Given the description of an element on the screen output the (x, y) to click on. 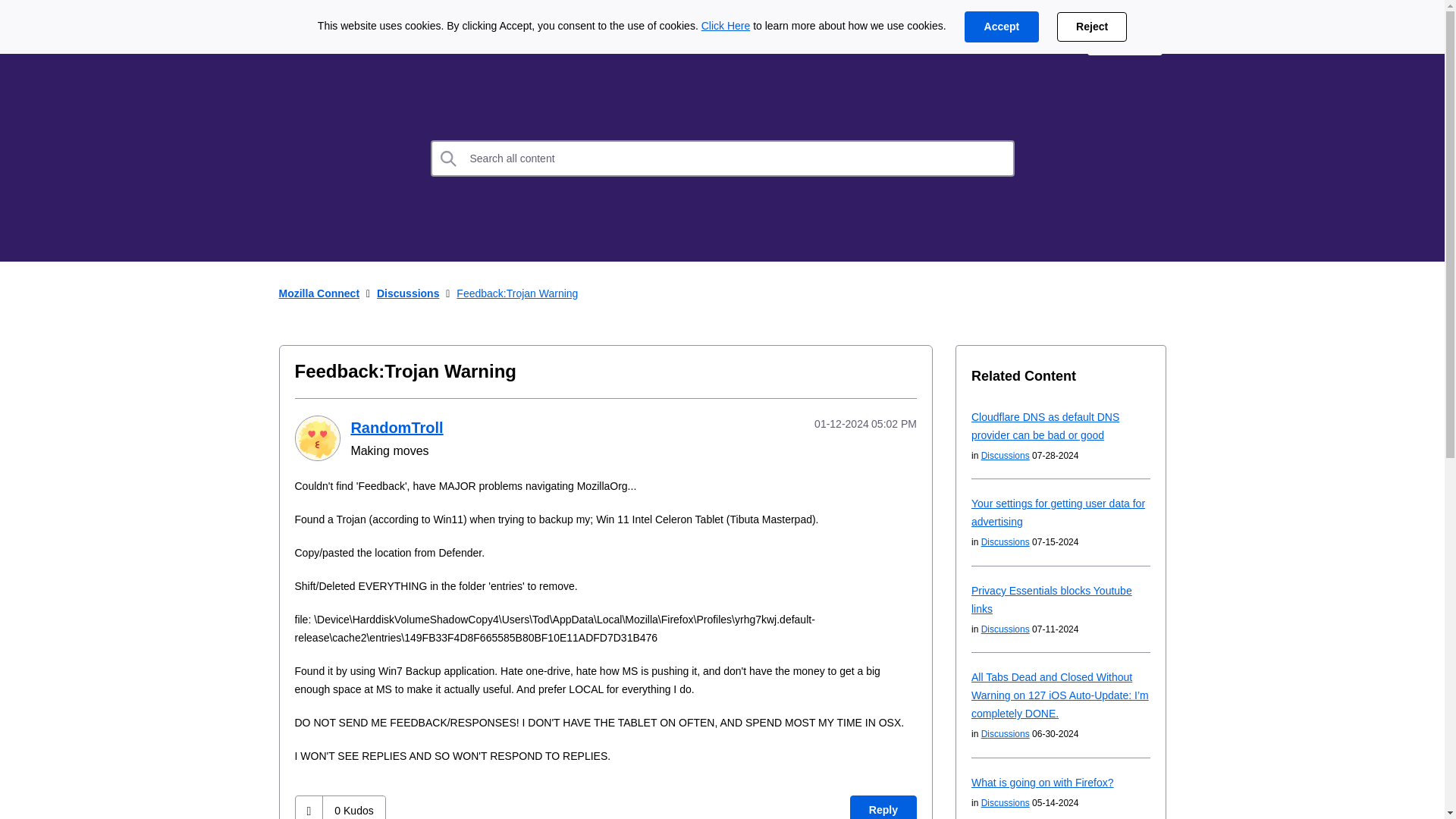
Support (1040, 39)
Reject (1091, 26)
Search (722, 158)
Mozilla Connect (324, 39)
Sign In (1124, 39)
Search (448, 158)
Accept (1001, 26)
RandomTroll (316, 438)
Ideas (411, 39)
The total number of kudos this post has received. (353, 807)
Discussions (500, 39)
Click here to give kudos to this post. (309, 807)
Mozilla Connect (319, 293)
Search (448, 158)
RandomTroll (396, 427)
